Given the description of an element on the screen output the (x, y) to click on. 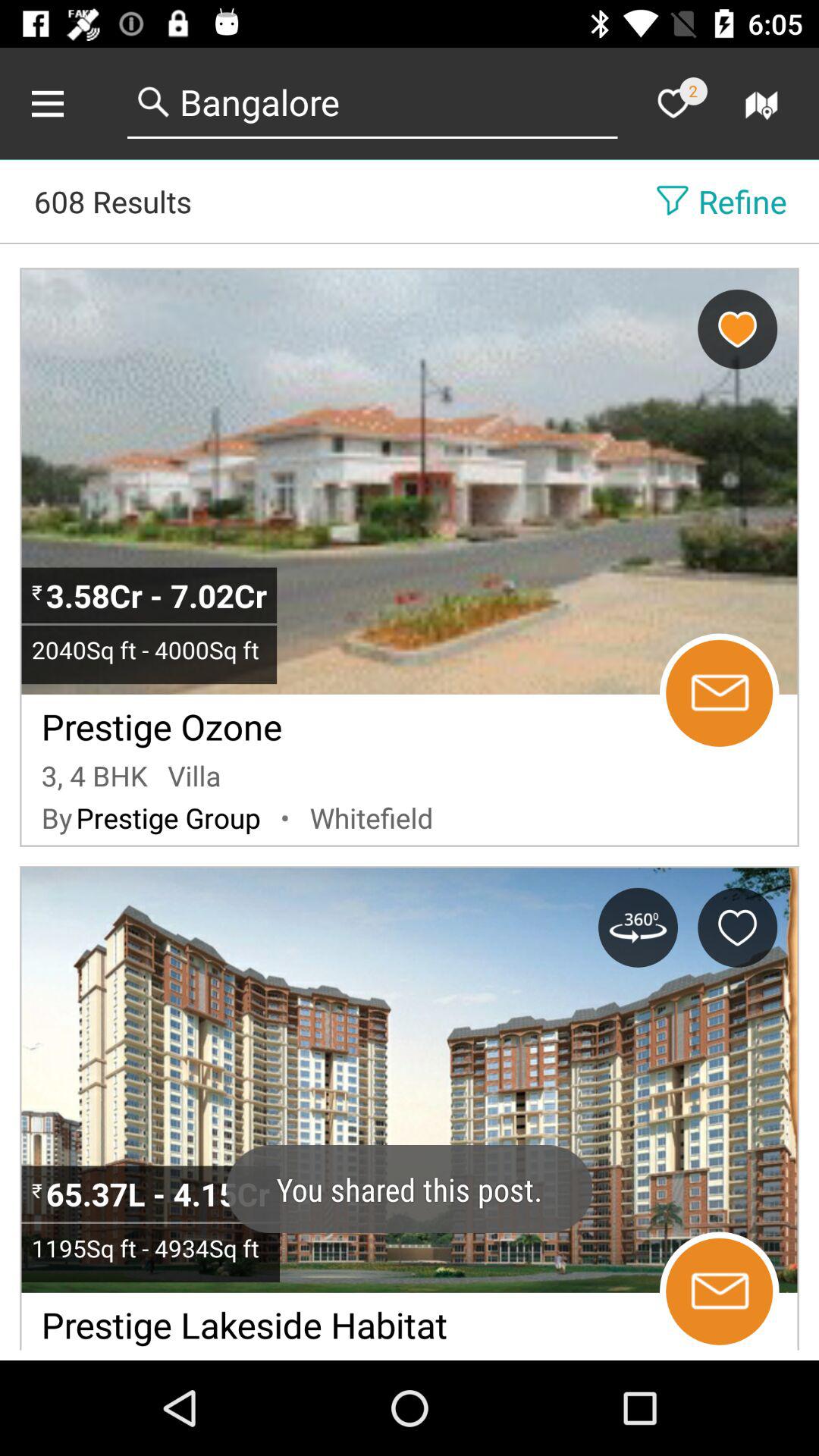
tap icon above 3, 4 bhk icon (161, 722)
